Given the description of an element on the screen output the (x, y) to click on. 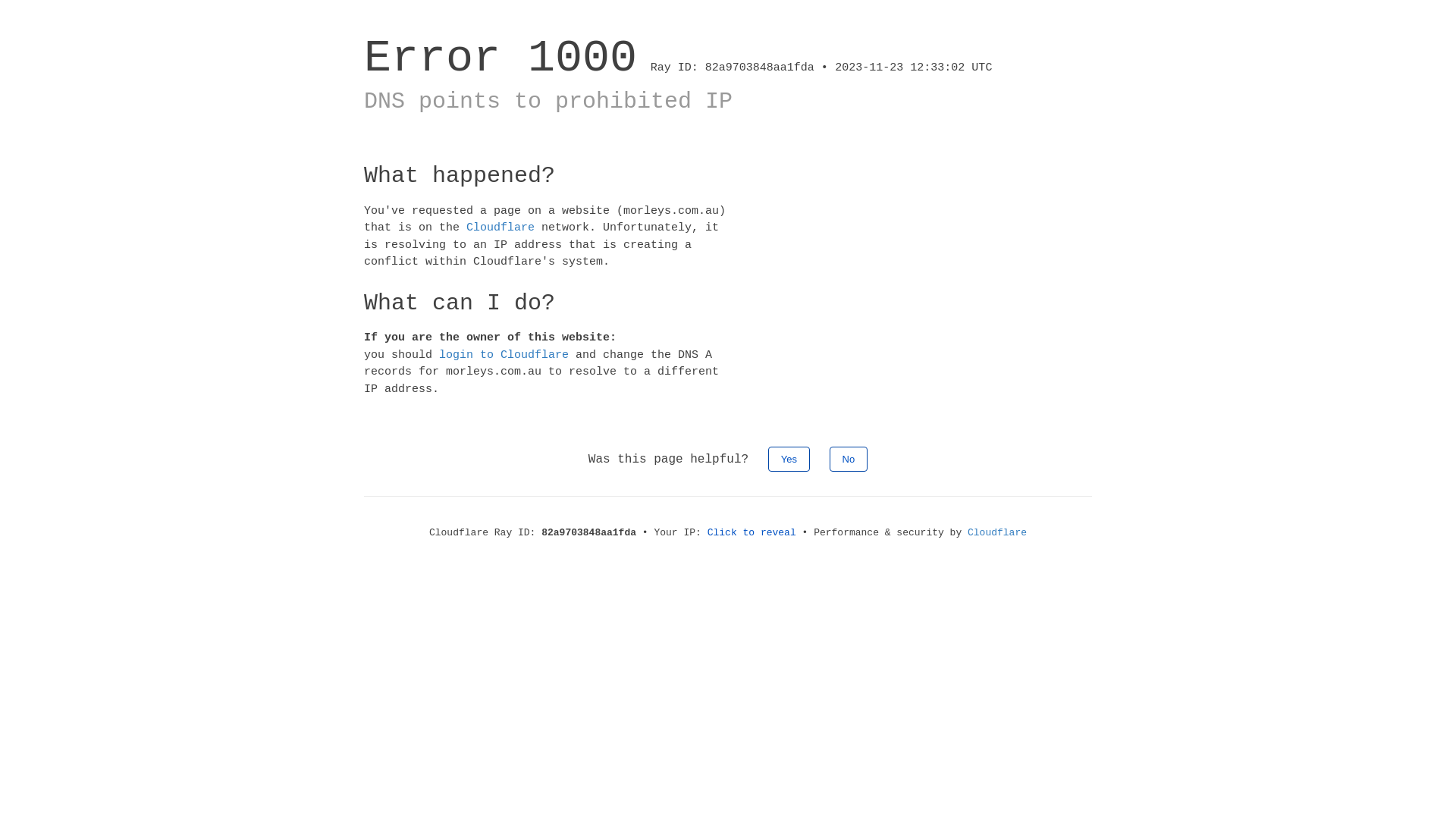
Cloudflare Element type: text (500, 227)
No Element type: text (848, 458)
Yes Element type: text (788, 458)
login to Cloudflare Element type: text (503, 354)
Click to reveal Element type: text (751, 532)
Cloudflare Element type: text (996, 532)
